Given the description of an element on the screen output the (x, y) to click on. 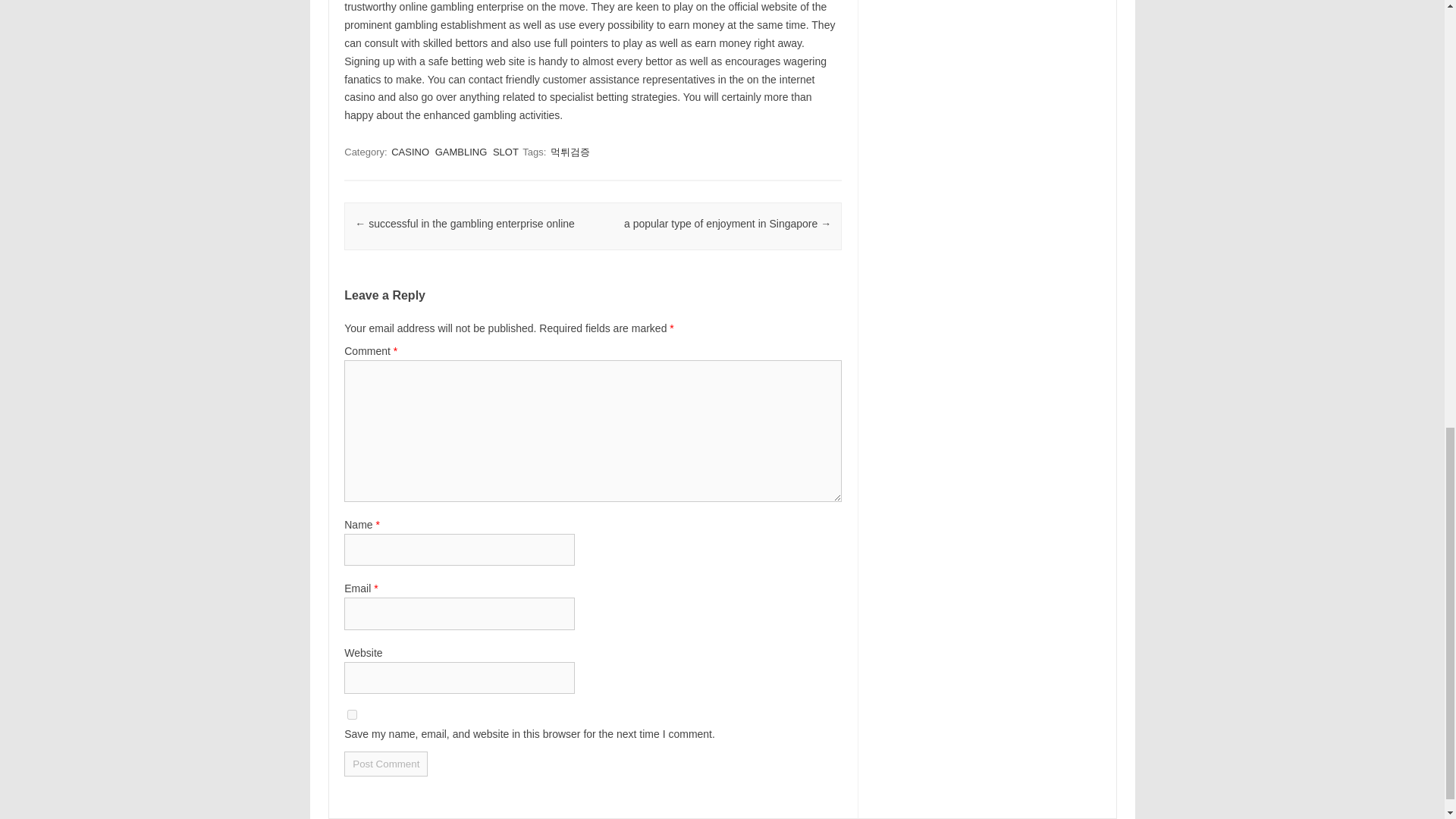
Post Comment (385, 763)
yes (351, 714)
Post Comment (385, 763)
SLOT (505, 151)
CASINO (410, 151)
GAMBLING (461, 151)
